Given the description of an element on the screen output the (x, y) to click on. 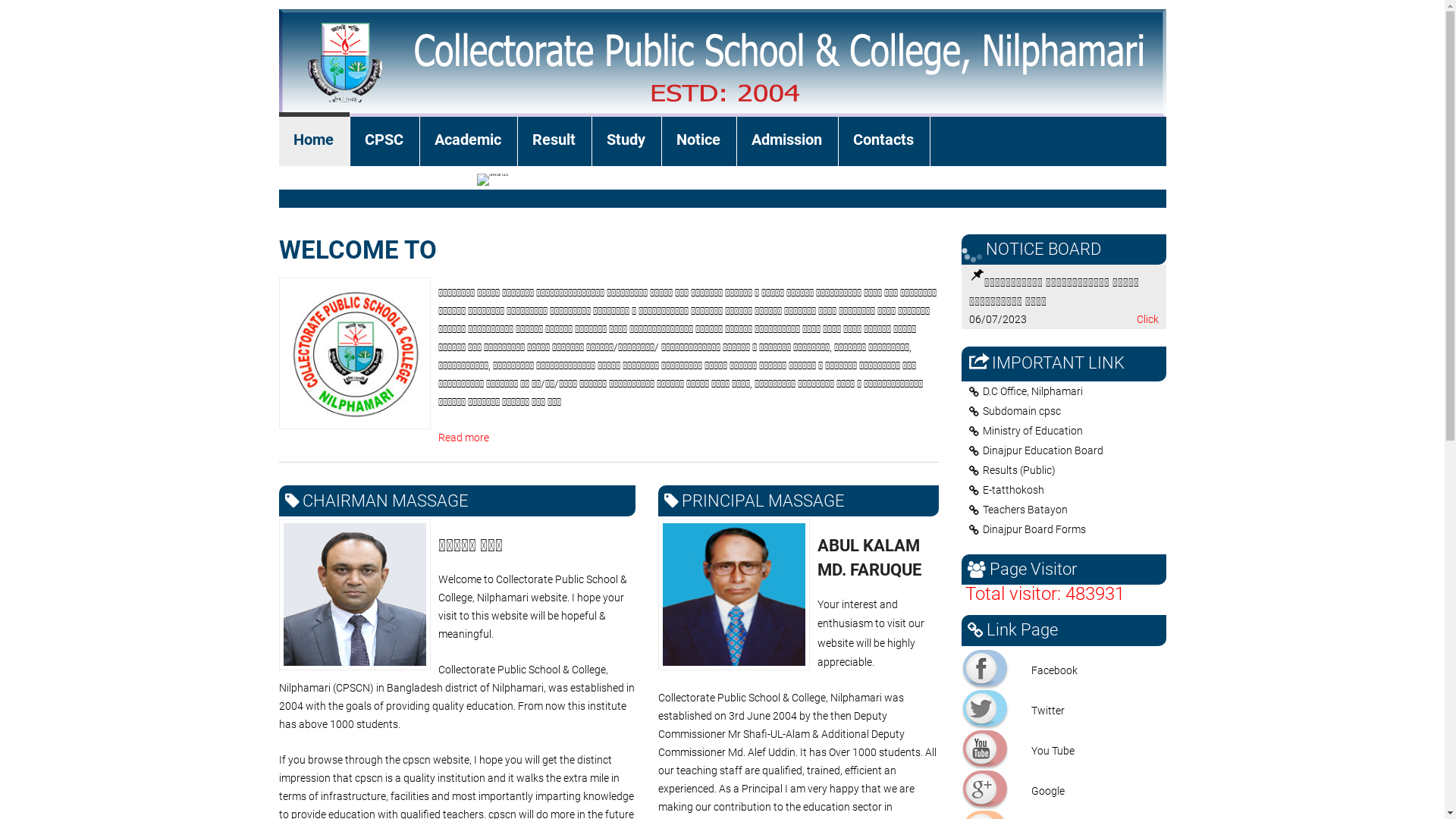
CPSC Element type: text (384, 141)
Dinajpur Education Board Element type: text (1067, 450)
Ministry of Education Element type: text (1067, 430)
Home Element type: text (314, 141)
Subdomain cpsc Element type: text (1067, 410)
Read more Element type: text (463, 437)
D.C Office, Nilphamari Element type: text (1067, 391)
Admission Element type: text (787, 141)
Twitter Element type: text (985, 708)
Dinajpur Board Forms Element type: text (1067, 529)
Facebook Element type: text (985, 667)
You Tube Element type: text (985, 748)
Academic Element type: text (468, 141)
Contacts Element type: text (883, 141)
Notice Element type: text (698, 141)
Study Element type: text (625, 141)
Teachers Batayon Element type: text (1067, 509)
Results (Public) Element type: text (1067, 470)
All Members Element type: hover (377, 187)
Google Element type: text (985, 788)
Result Element type: text (553, 141)
E-tatthokosh Element type: text (1067, 489)
award3 Element type: hover (492, 179)
                       Element type: text (1115, 164)
